Given the description of an element on the screen output the (x, y) to click on. 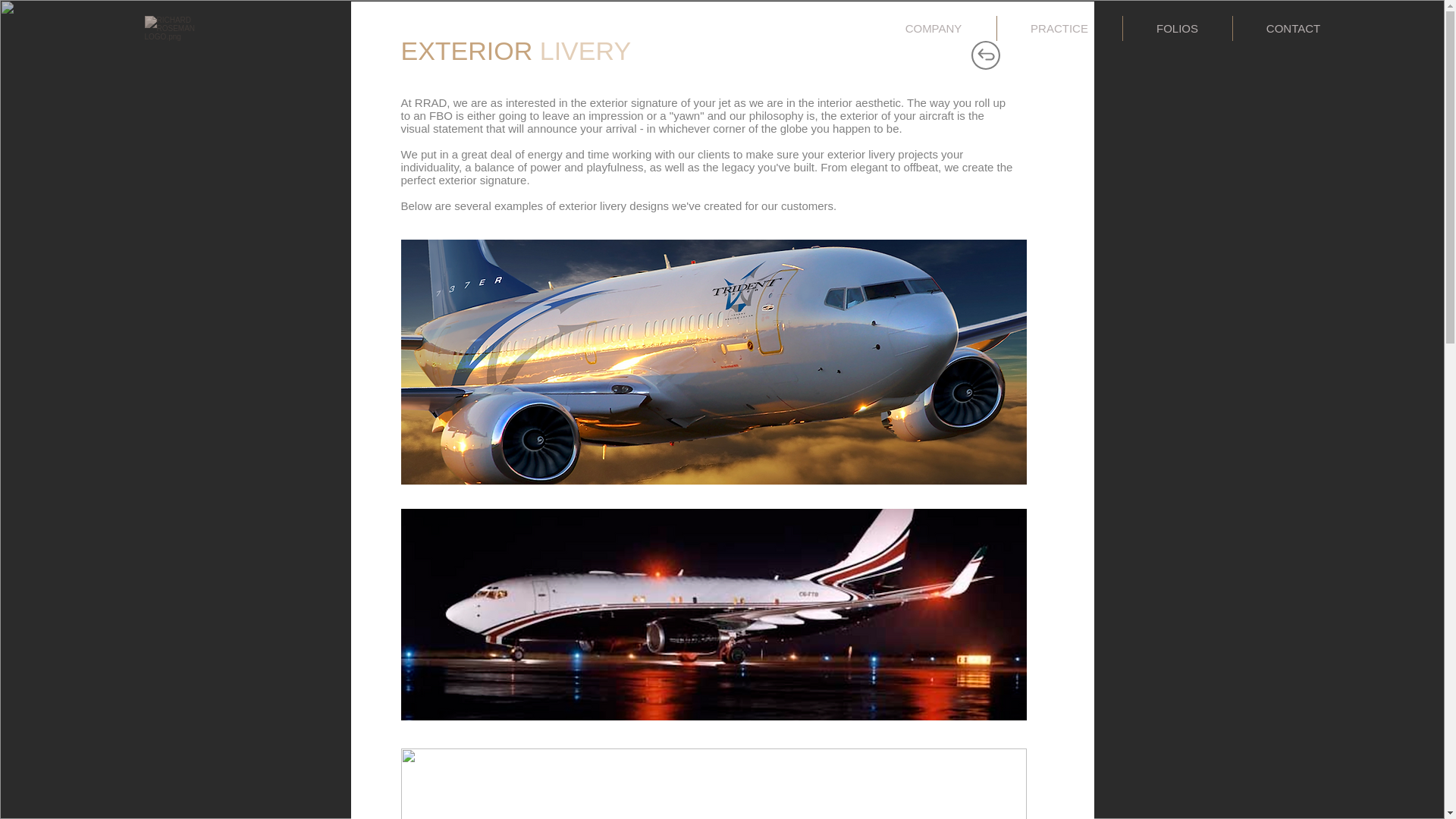
PRACTICE (1058, 27)
COMPANY (932, 27)
FOLIOS (1176, 27)
CONTACT (1292, 27)
